Given the description of an element on the screen output the (x, y) to click on. 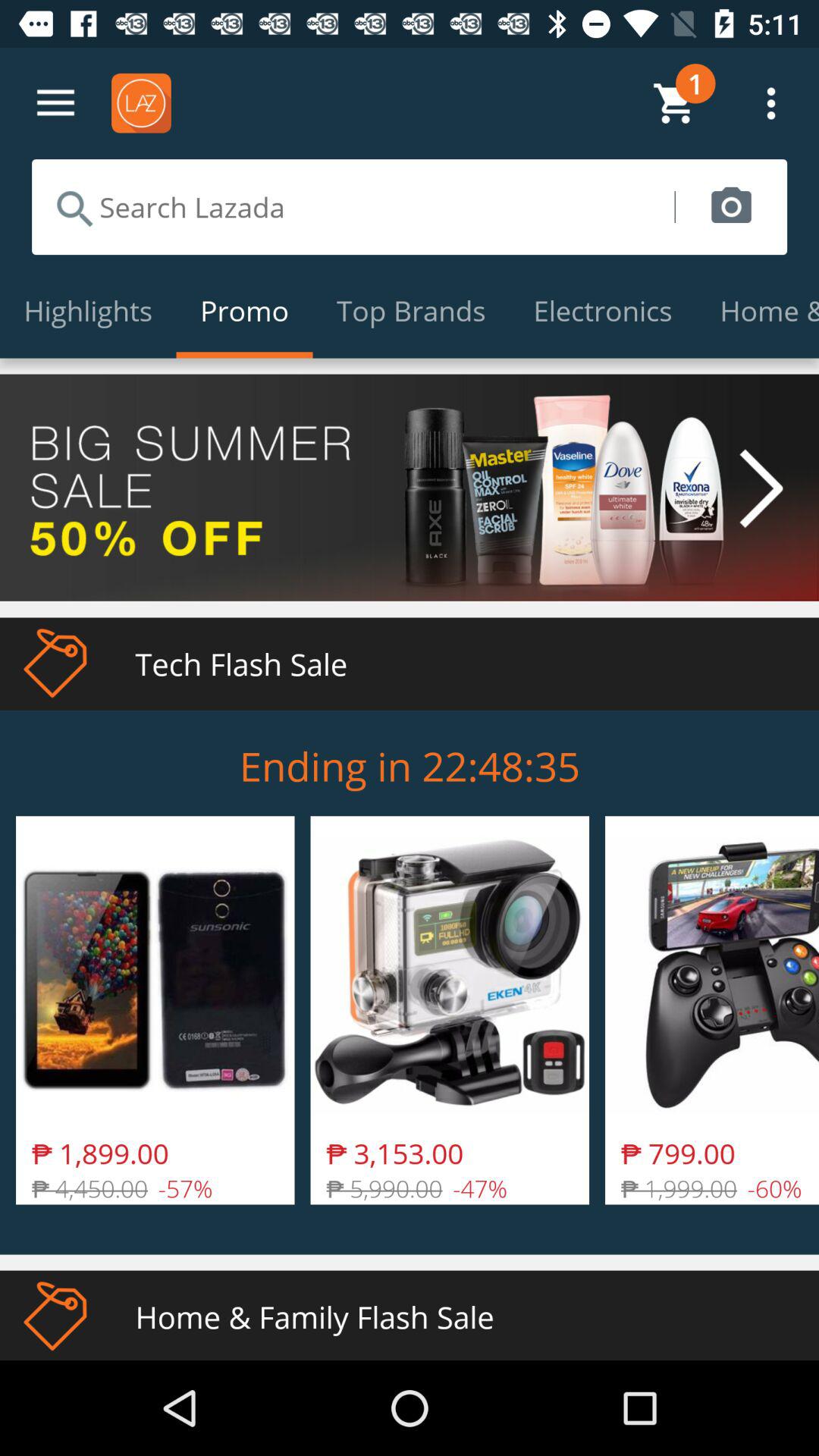
go to back (55, 103)
